Given the description of an element on the screen output the (x, y) to click on. 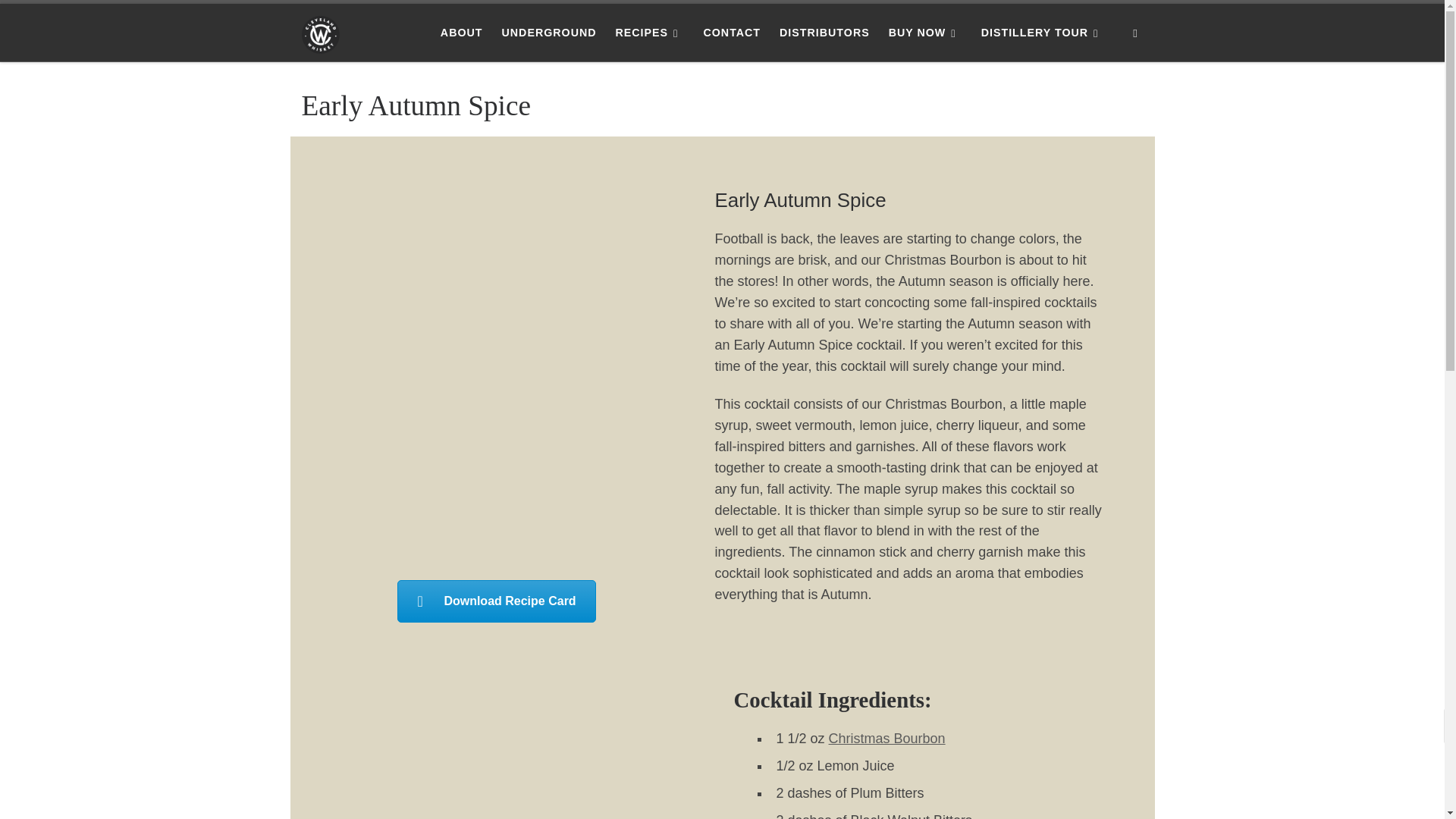
CONTACT (731, 32)
UNDERGROUND (548, 32)
Skip to content (60, 20)
DISTILLERY TOUR (1041, 32)
Early Autumn Spice (496, 600)
DISTRIBUTORS (824, 32)
BUY NOW (924, 32)
RECIPES (649, 32)
ABOUT (461, 32)
